Given the description of an element on the screen output the (x, y) to click on. 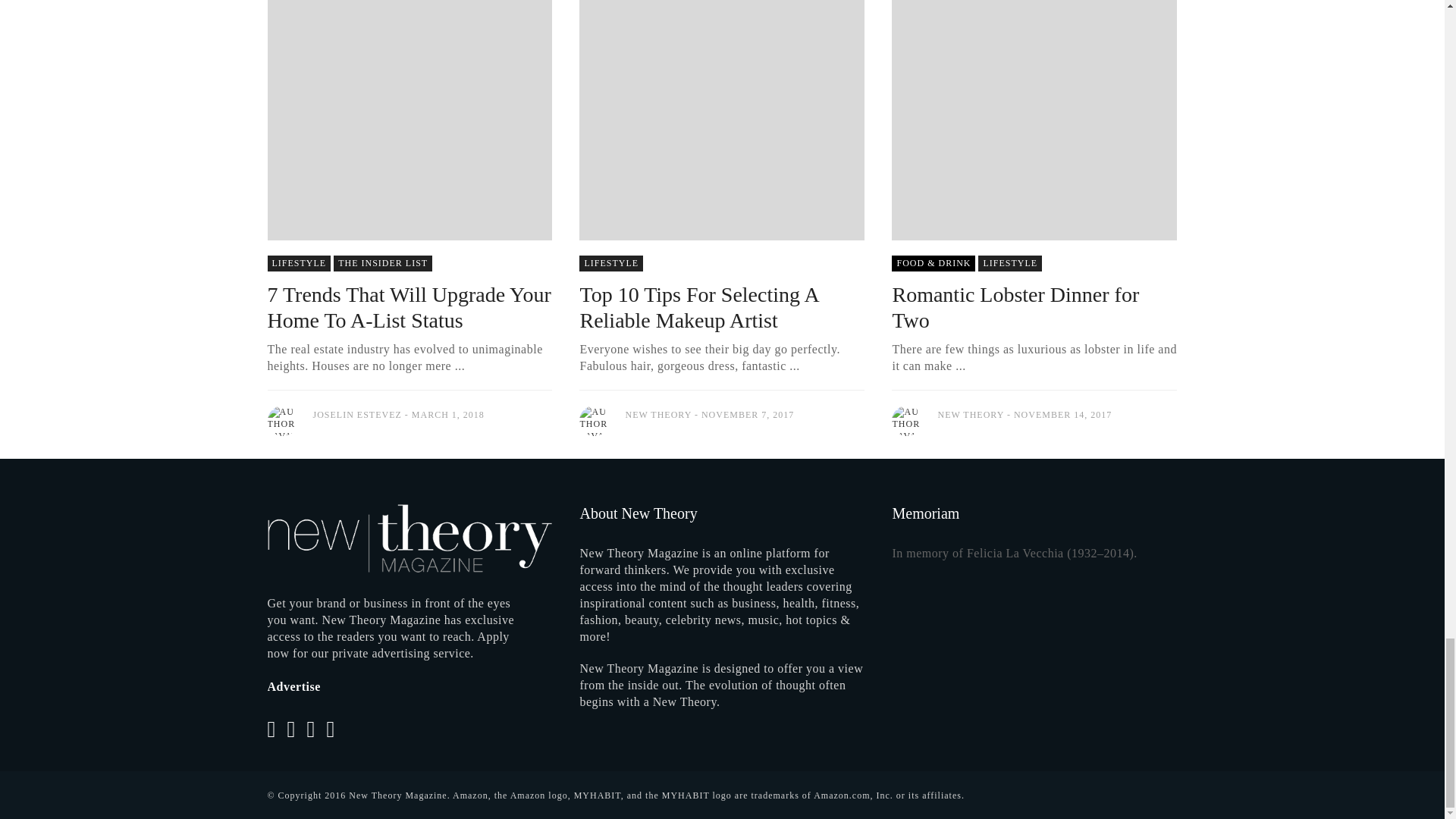
View all posts in 157 (933, 263)
View all posts in 3846 (298, 263)
View all posts in 3846 (611, 263)
View all posts in 3846 (1010, 263)
View all posts in 3034 (382, 263)
